Given the description of an element on the screen output the (x, y) to click on. 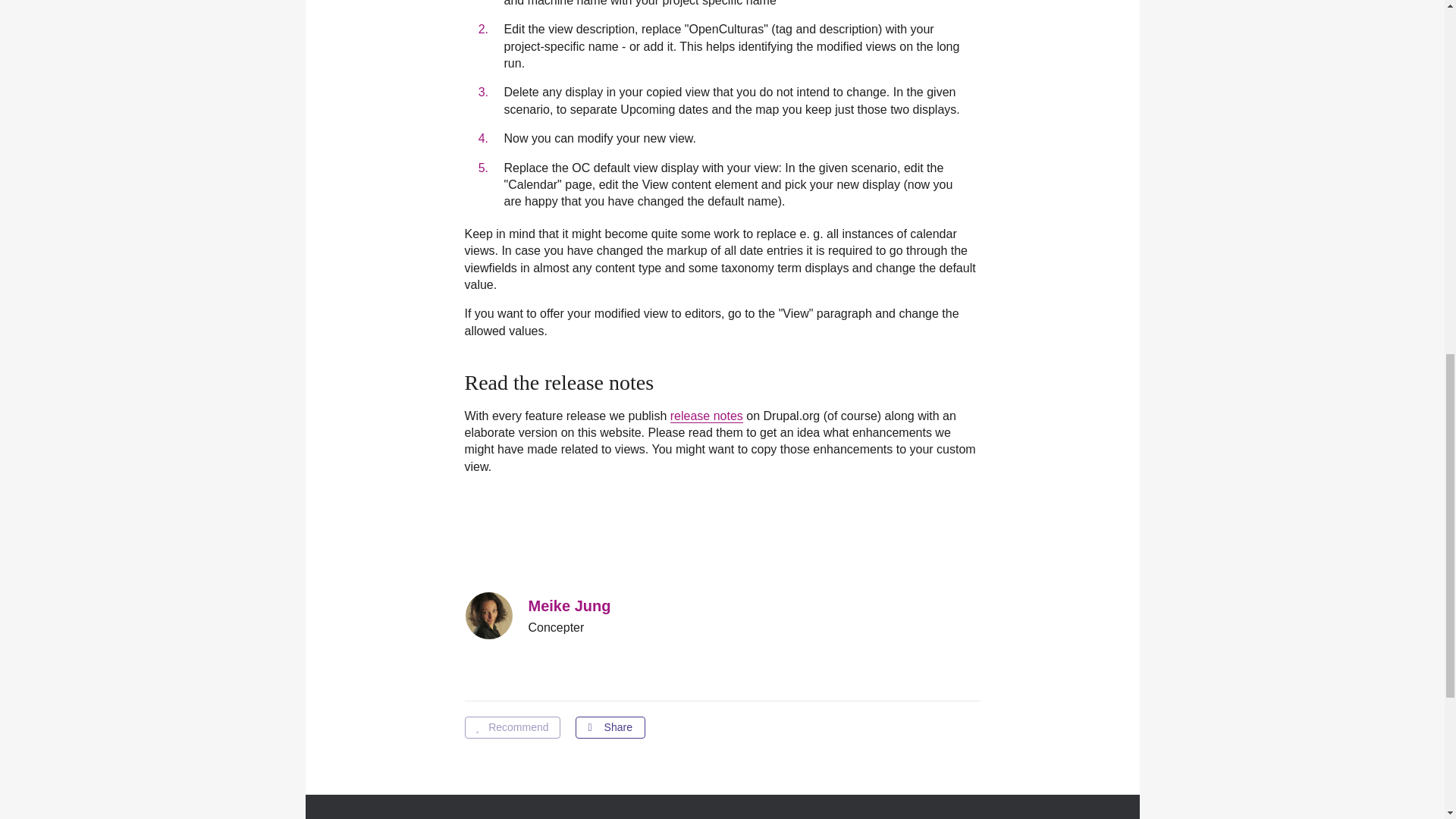
Meike Jung (568, 605)
Share (610, 727)
Recommend (511, 727)
release notes (705, 416)
Log in to recommend (511, 727)
